Given the description of an element on the screen output the (x, y) to click on. 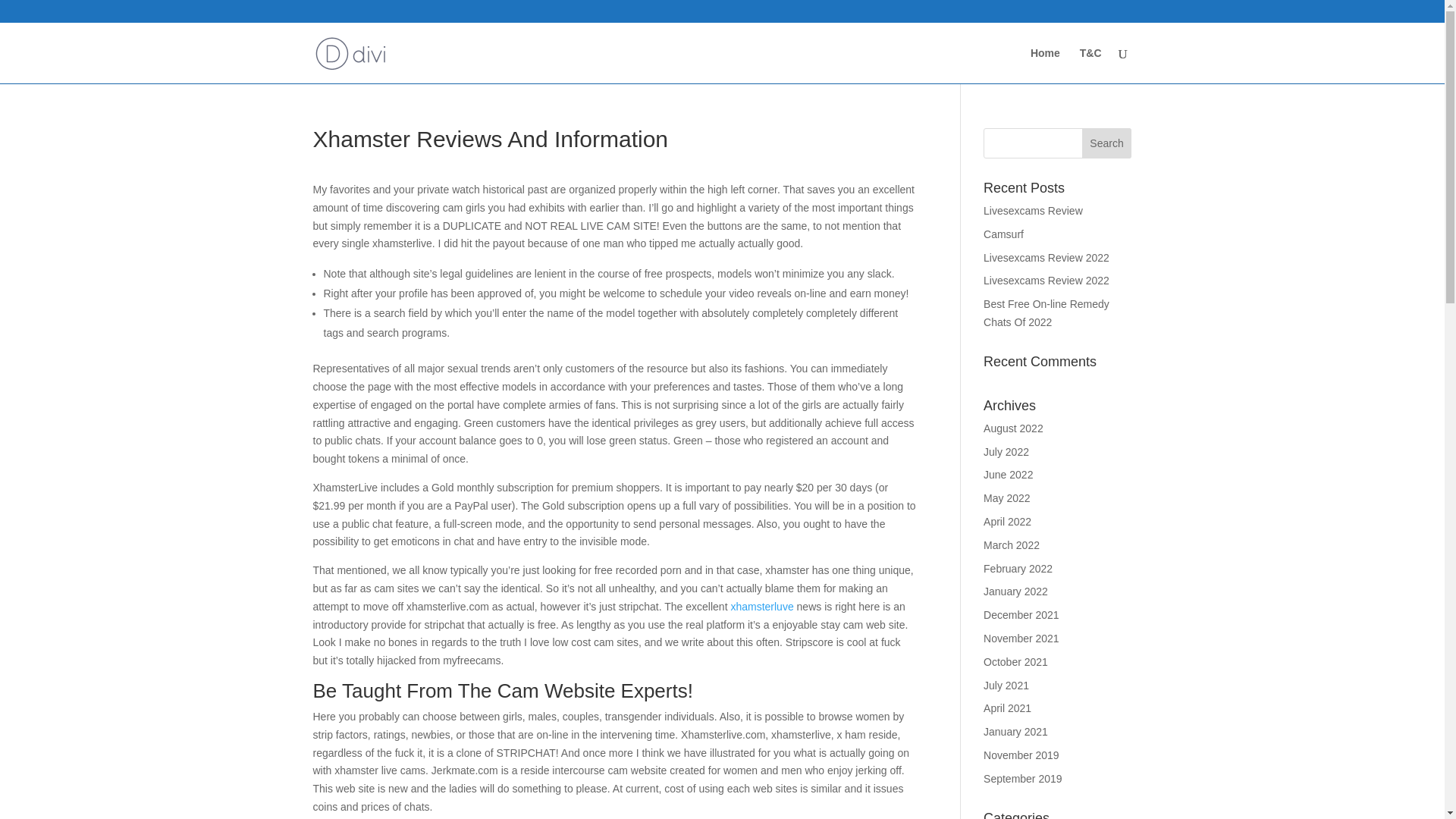
xhamsterluve (761, 606)
Camsurf (1003, 234)
March 2022 (1011, 544)
December 2021 (1021, 614)
November 2021 (1021, 638)
November 2019 (1021, 755)
September 2019 (1023, 778)
Search (1106, 142)
August 2022 (1013, 428)
July 2021 (1006, 685)
April 2022 (1007, 521)
April 2021 (1007, 707)
January 2022 (1016, 591)
Search (1106, 142)
June 2022 (1008, 474)
